Given the description of an element on the screen output the (x, y) to click on. 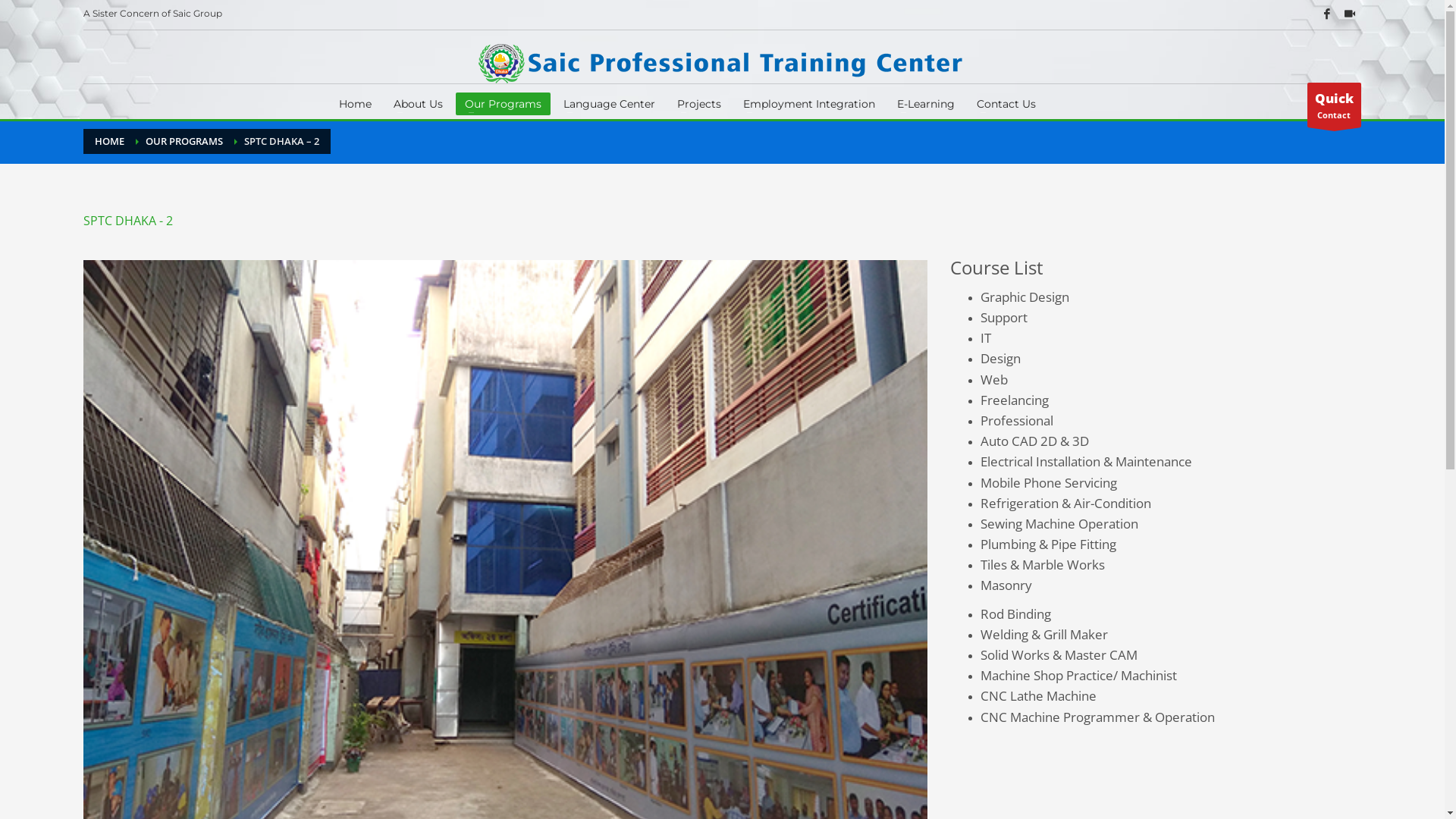
Quick
Contact Element type: text (1334, 104)
Language Center Element type: text (609, 103)
E-Learning Element type: text (925, 103)
Contact Us Element type: text (1005, 103)
Our Programs Element type: text (502, 103)
Home Element type: text (354, 103)
Employment Integration Element type: text (809, 103)
Facebook Element type: hover (1326, 13)
Train your self-change your self. Element type: hover (721, 62)
Projects Element type: text (699, 103)
Youtube Element type: hover (1349, 13)
HOME Element type: text (109, 140)
About Us Element type: text (417, 103)
OUR PROGRAMS Element type: text (183, 140)
